Given the description of an element on the screen output the (x, y) to click on. 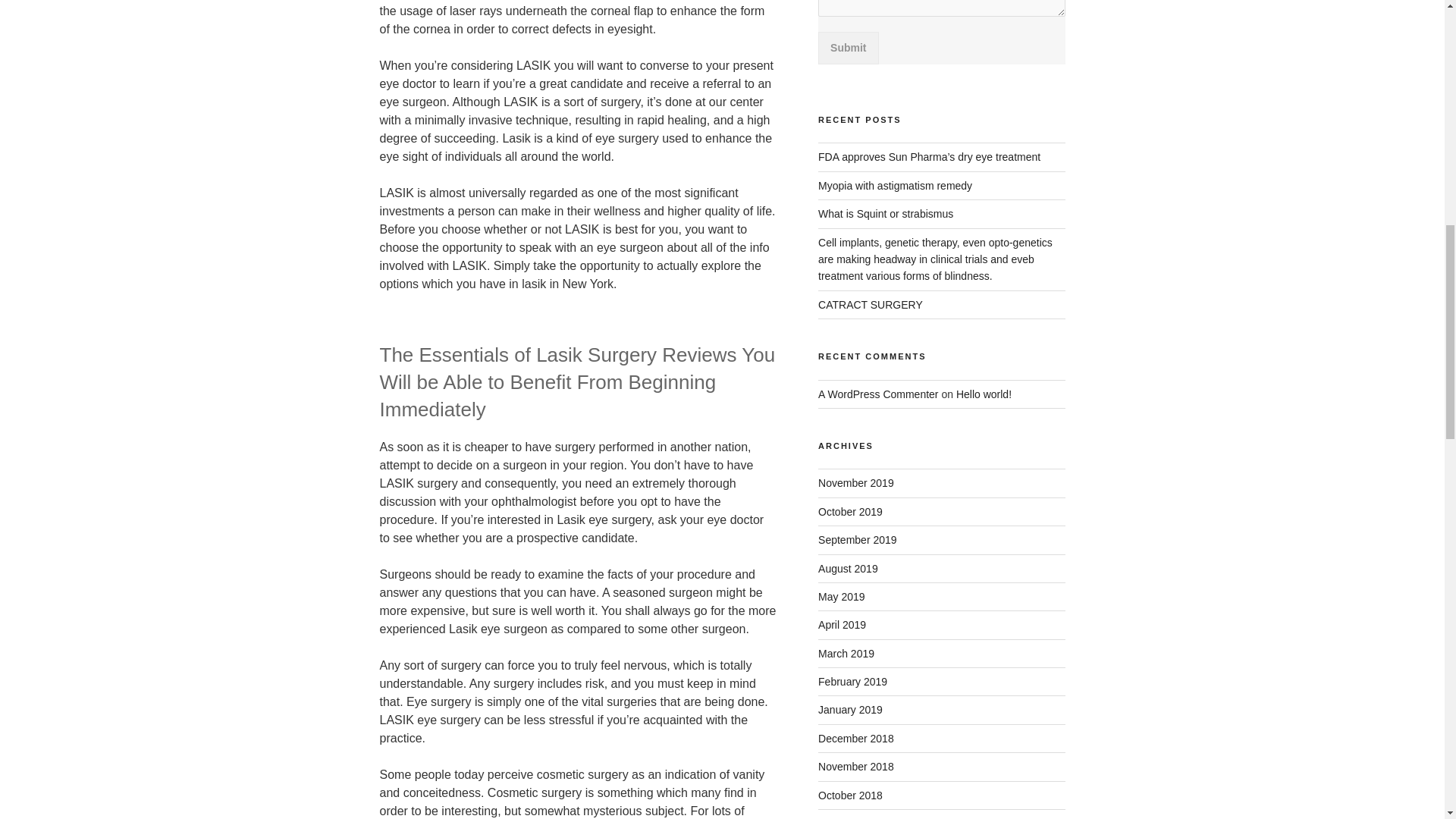
CATRACT SURGERY (870, 304)
February 2019 (852, 681)
Hello world! (983, 394)
October 2018 (850, 795)
May 2019 (841, 596)
What is Squint or strabismus (885, 214)
A WordPress Commenter (877, 394)
November 2019 (855, 482)
January 2019 (850, 709)
September 2019 (857, 539)
